Given the description of an element on the screen output the (x, y) to click on. 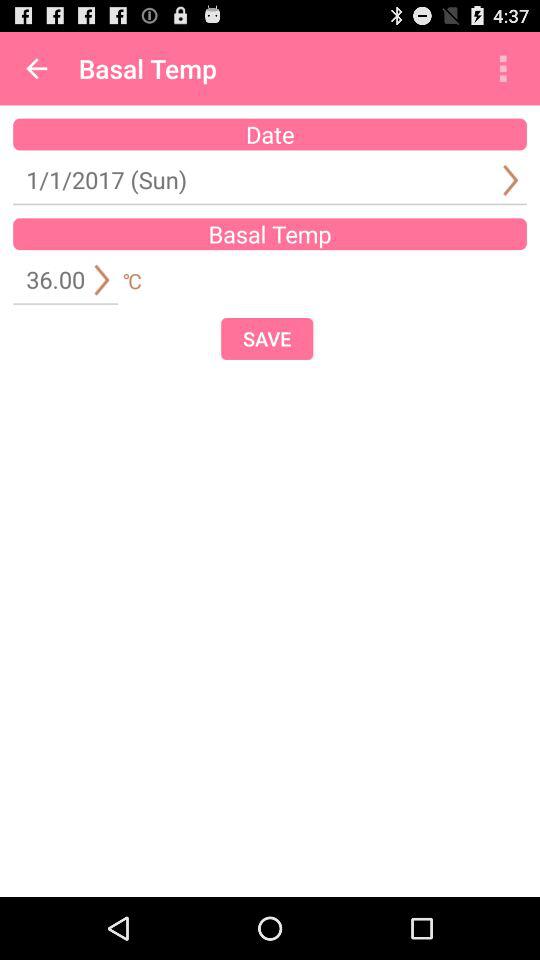
turn on the item above the date icon (503, 67)
